Given the description of an element on the screen output the (x, y) to click on. 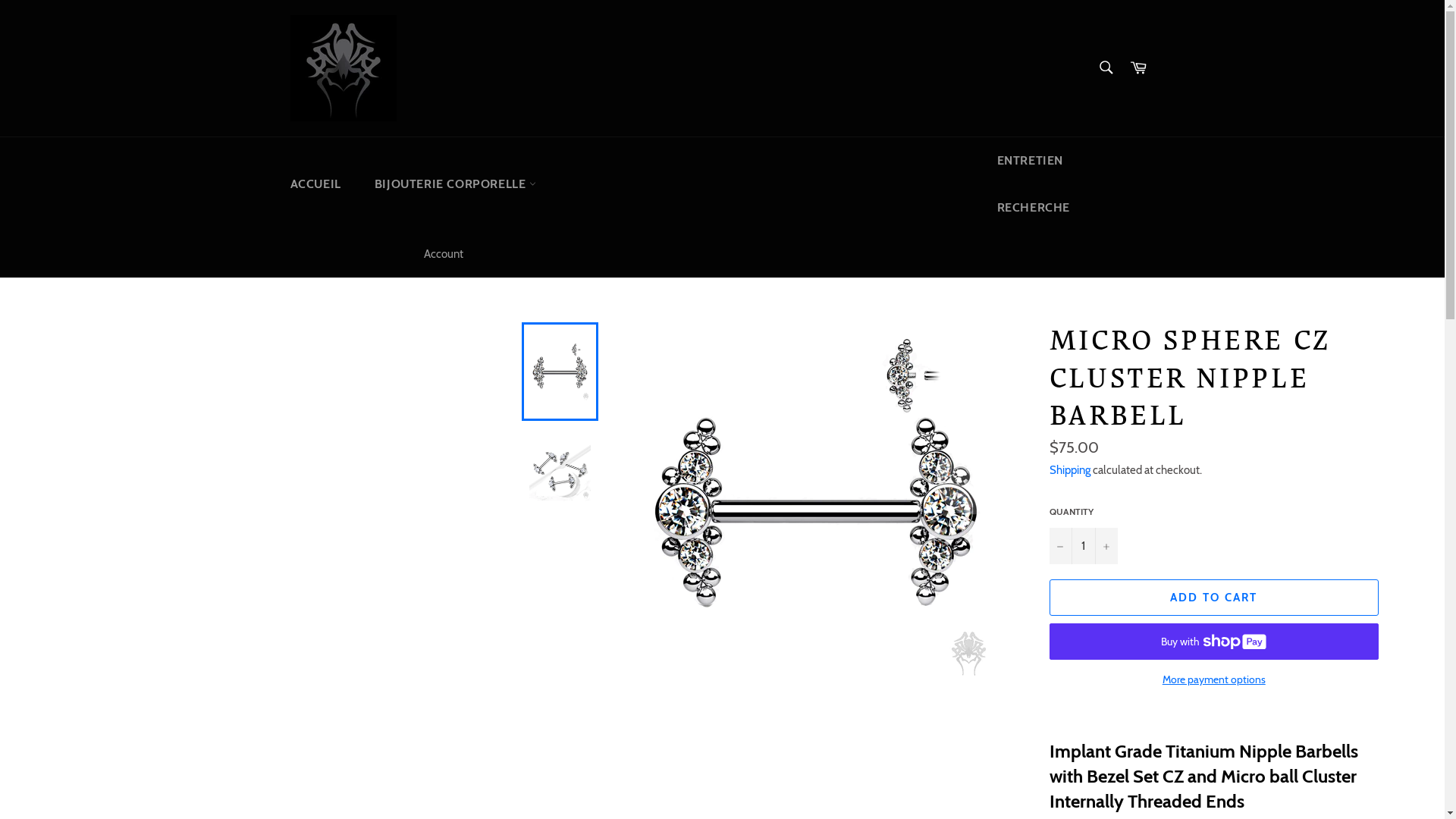
Search Element type: text (1105, 67)
RECHERCHE Element type: text (1067, 207)
BIJOUTERIE CORPORELLE Element type: text (455, 183)
More payment options Element type: text (1213, 679)
+ Element type: text (1106, 545)
ACCUEIL Element type: text (314, 183)
ENTRETIEN Element type: text (1067, 160)
Account Element type: text (442, 254)
Cart Element type: text (1138, 68)
ADD TO CART Element type: text (1213, 597)
Shipping Element type: text (1069, 469)
